Given the description of an element on the screen output the (x, y) to click on. 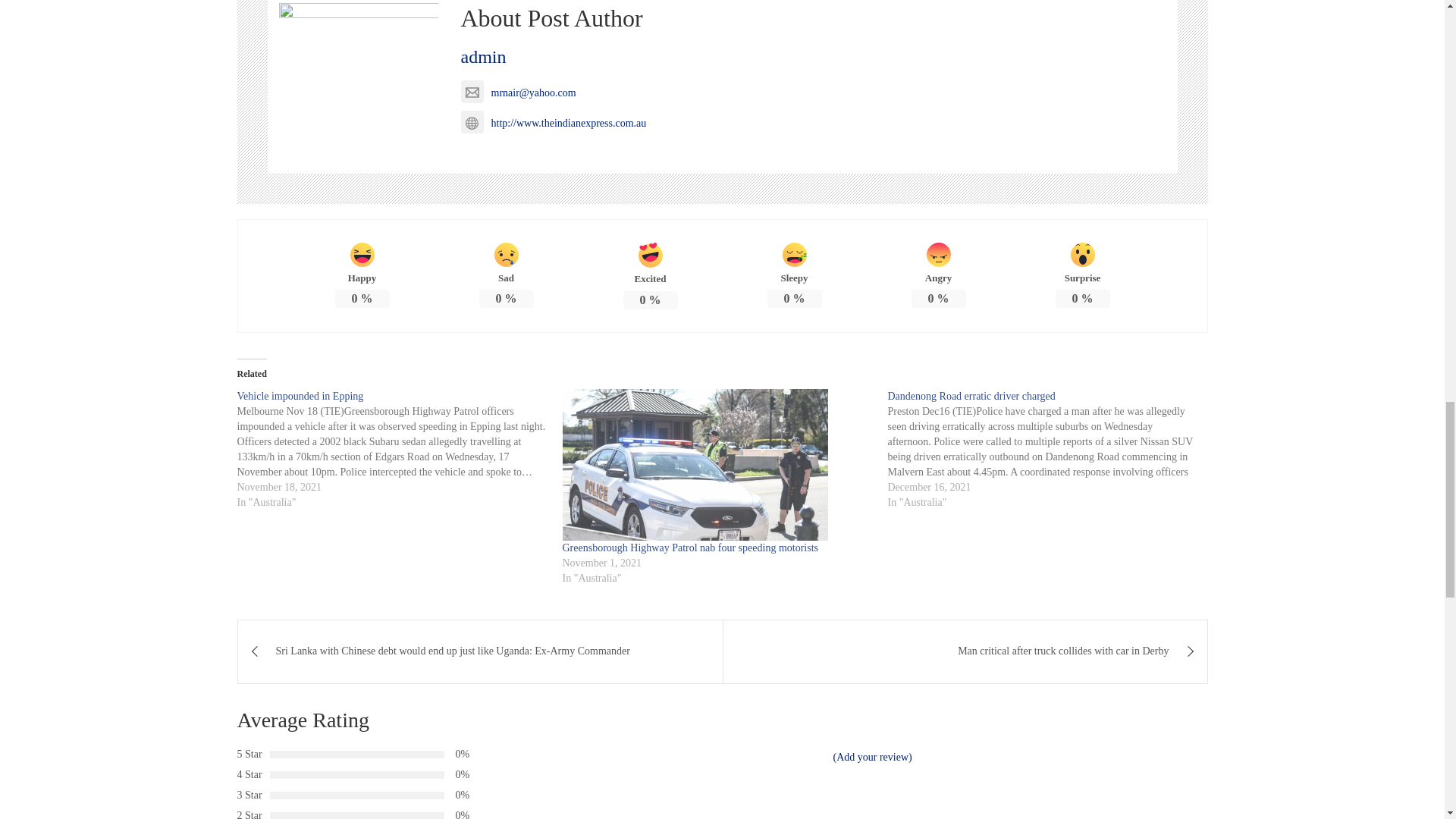
Vehicle impounded in Epping (298, 396)
admin (483, 56)
Greensborough Highway Patrol nab four speeding motorists (690, 547)
Greensborough Highway Patrol nab four speeding motorists (690, 547)
Vehicle impounded in Epping (298, 396)
Vehicle impounded in Epping (398, 449)
Dandenong Road erratic driver charged (1049, 449)
Dandenong Road erratic driver charged (970, 396)
Greensborough Highway Patrol nab four speeding motorists (717, 464)
